Given the description of an element on the screen output the (x, y) to click on. 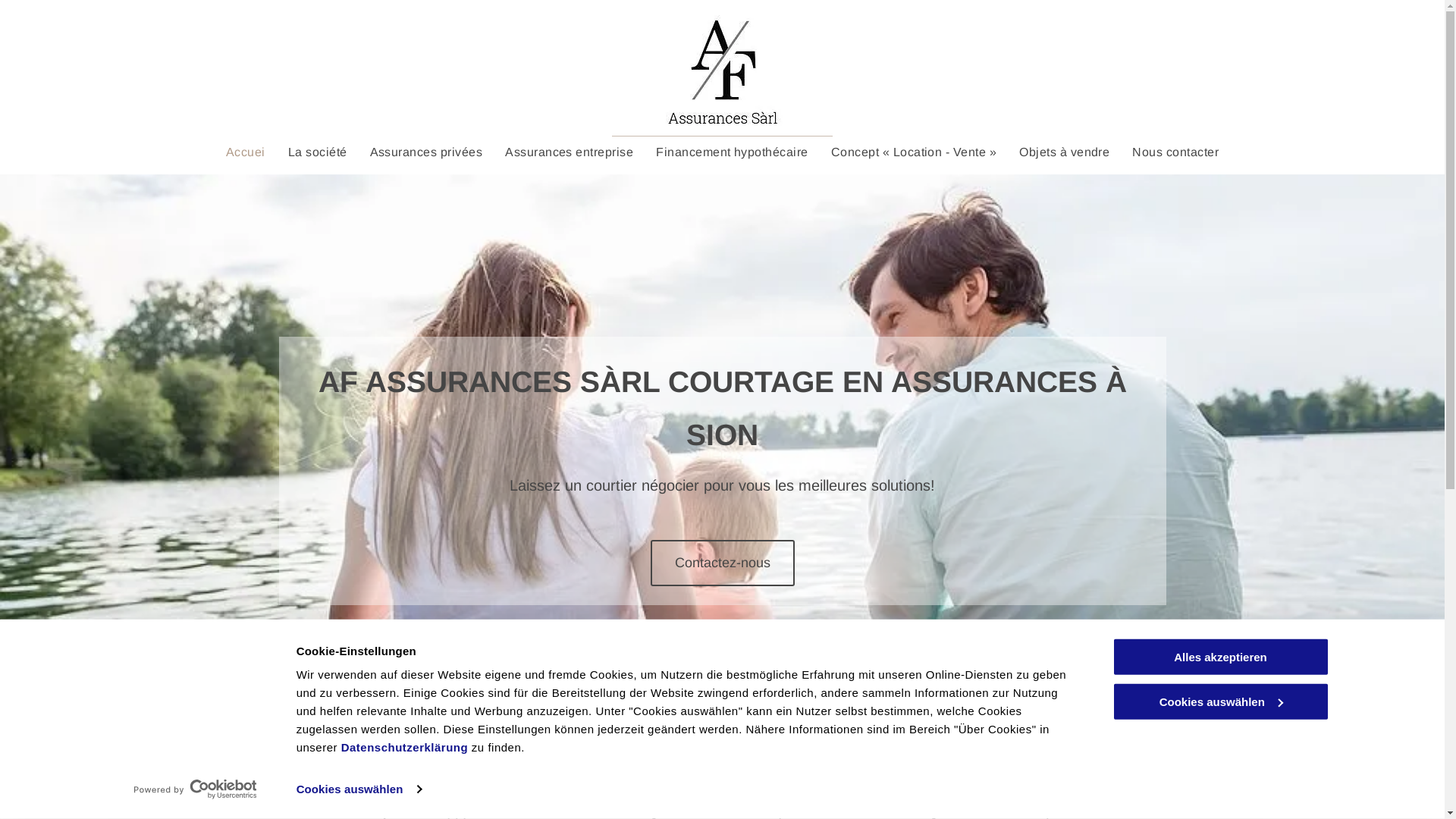
Assurances entreprise Element type: text (568, 152)
Accuei Element type: text (245, 152)
Alles akzeptieren Element type: text (1219, 656)
Nous contacter Element type: text (1175, 152)
